Given the description of an element on the screen output the (x, y) to click on. 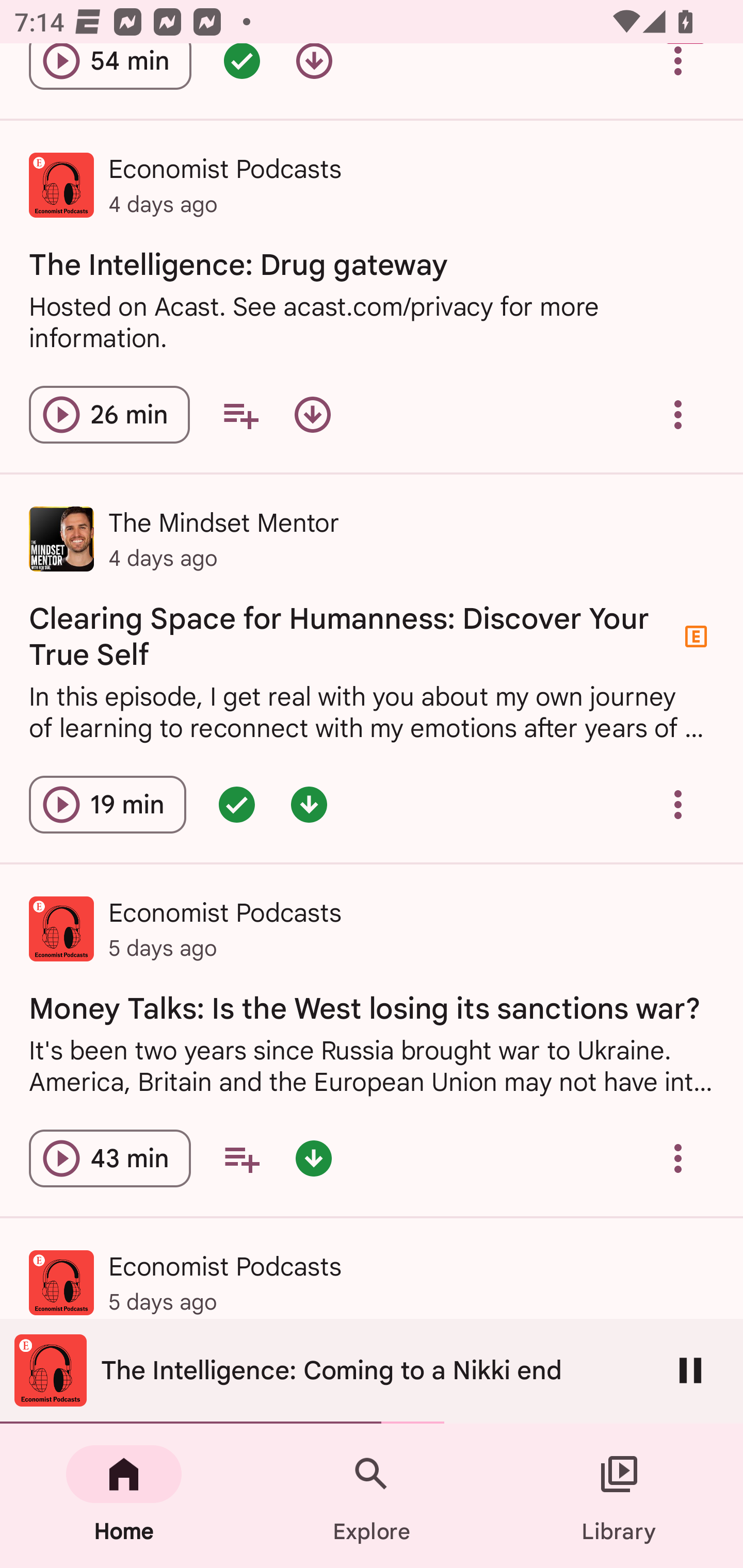
Episode queued - double tap for options (241, 73)
Download episode (313, 73)
Overflow menu (677, 73)
Play episode The Intelligence: Drug gateway 26 min (109, 414)
Add to your queue (240, 414)
Download episode (312, 414)
Overflow menu (677, 414)
Episode queued - double tap for options (236, 805)
Episode downloaded - double tap for options (308, 805)
Overflow menu (677, 805)
Add to your queue (241, 1157)
Episode downloaded - double tap for options (313, 1157)
Overflow menu (677, 1157)
Pause (690, 1370)
Explore (371, 1495)
Library (619, 1495)
